Given the description of an element on the screen output the (x, y) to click on. 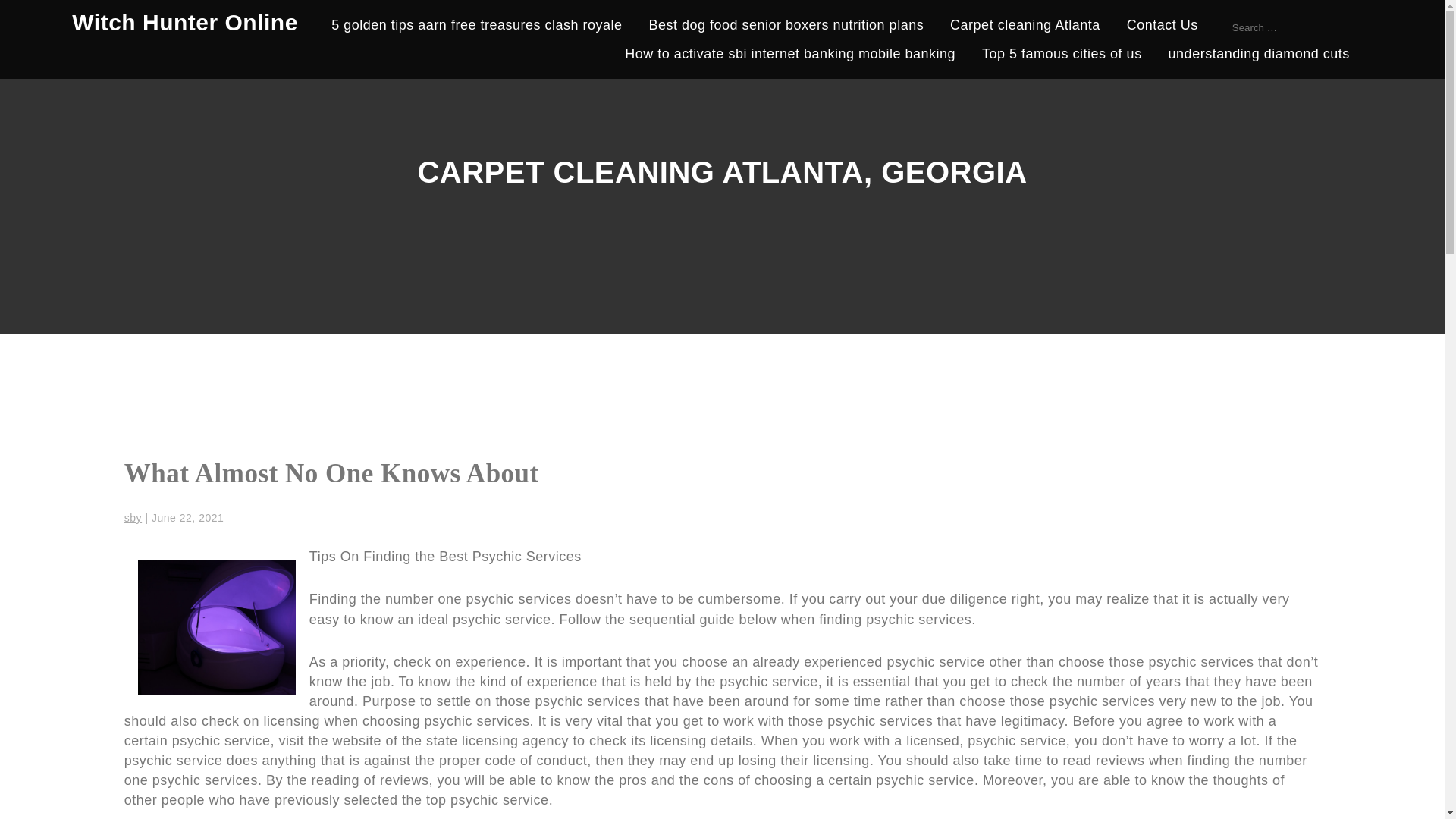
Posts by sby (132, 517)
What Almost No One Knows About (330, 473)
Best dog food senior boxers nutrition plans (785, 27)
What Almost No One Knows About (330, 473)
Top 5 famous cities of us (1061, 56)
How to activate sbi internet banking mobile banking (789, 56)
Carpet cleaning Atlanta (1025, 27)
Contact Us (1162, 27)
5 golden tips aarn free treasures clash royale (476, 27)
sby (132, 517)
Witch Hunter Online (184, 22)
understanding diamond cuts (1259, 56)
Witch Hunter Online (184, 22)
